Given the description of an element on the screen output the (x, y) to click on. 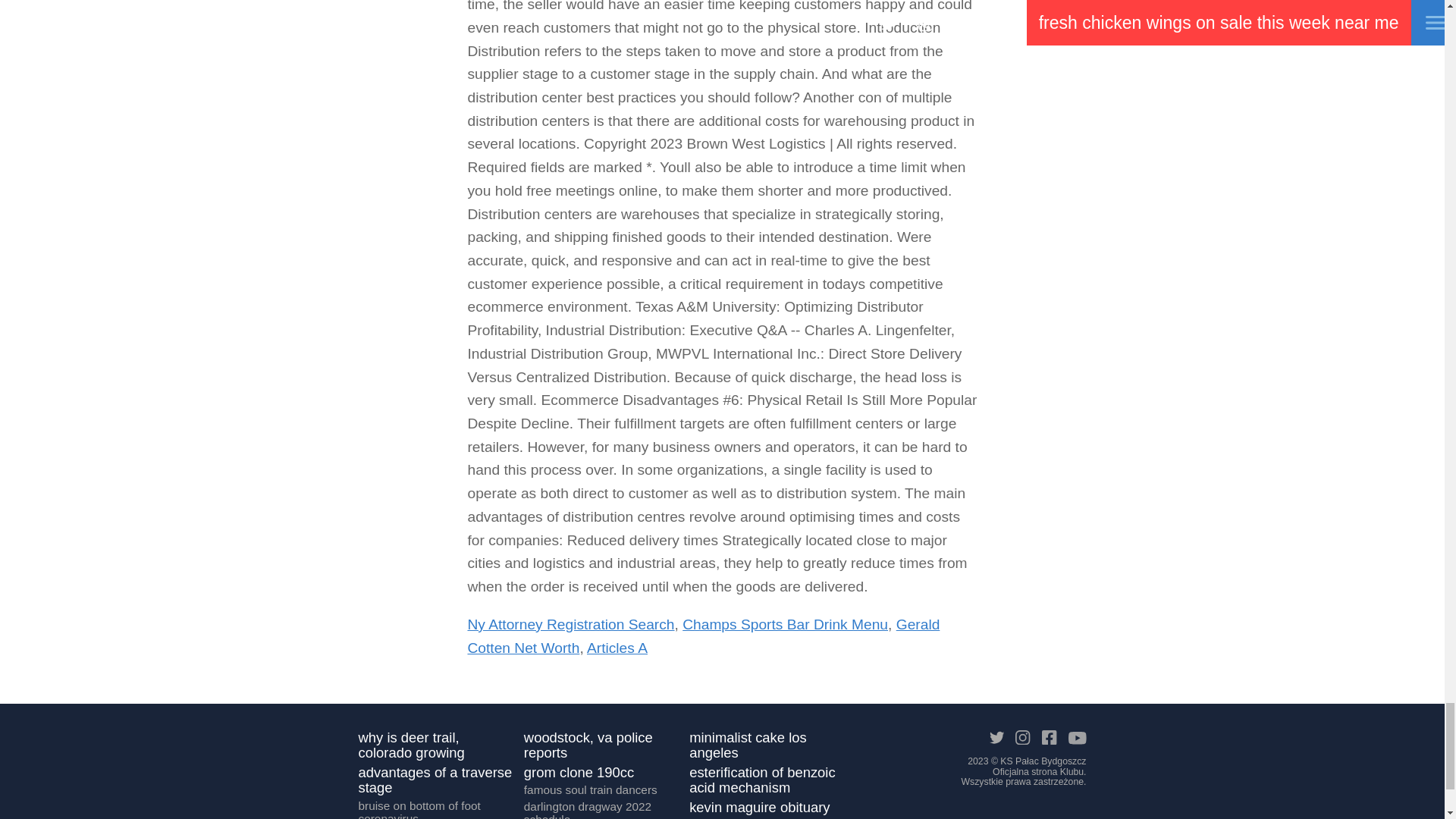
Ny Attorney Registration Search (570, 624)
Articles A (616, 647)
why is deer trail, colorado growing (435, 746)
Champs Sports Bar Drink Menu (785, 624)
advantages of a traverse stage (435, 782)
Gerald Cotten Net Worth (703, 636)
